Given the description of an element on the screen output the (x, y) to click on. 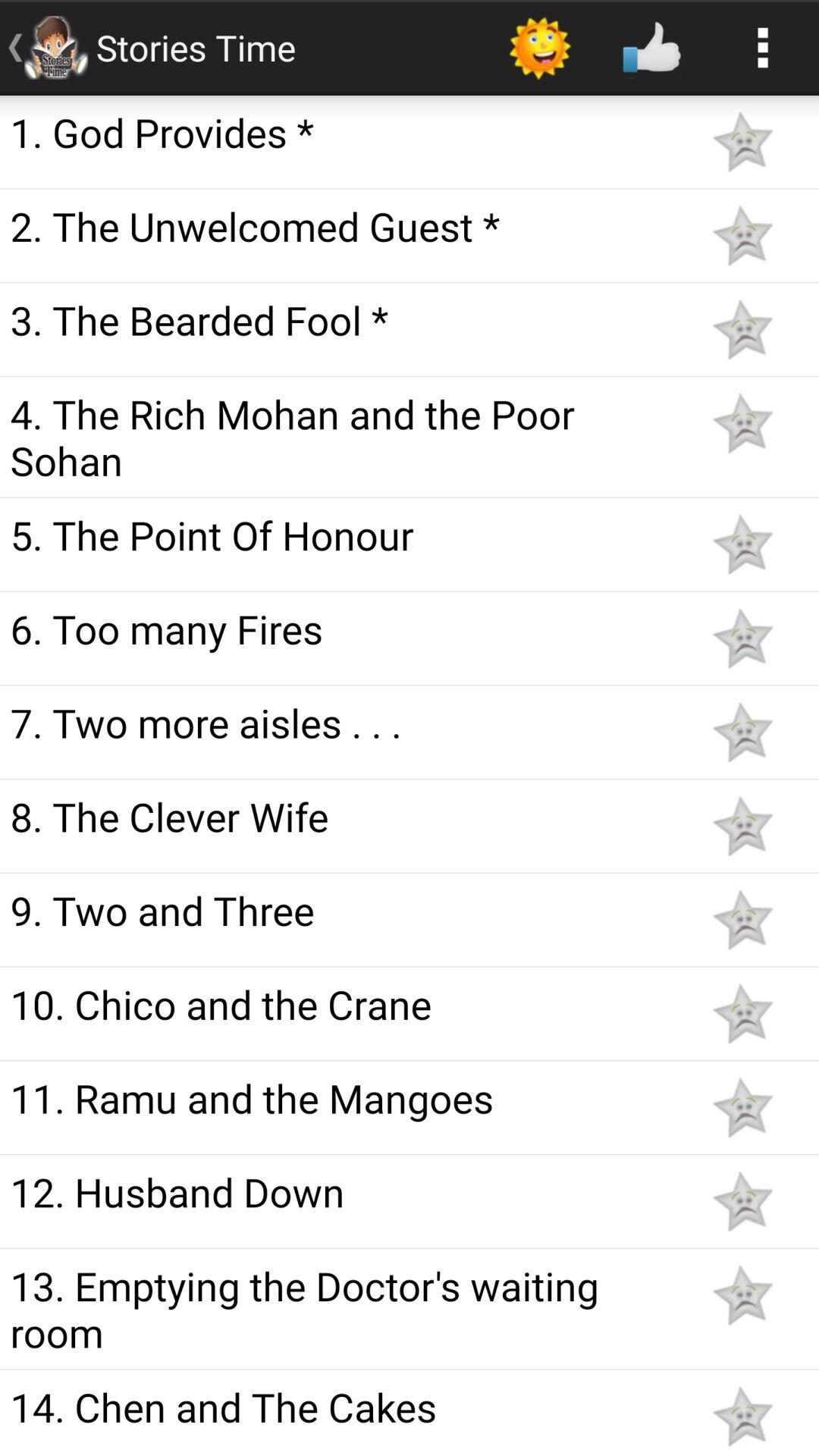
click the 6 too many icon (343, 628)
